Given the description of an element on the screen output the (x, y) to click on. 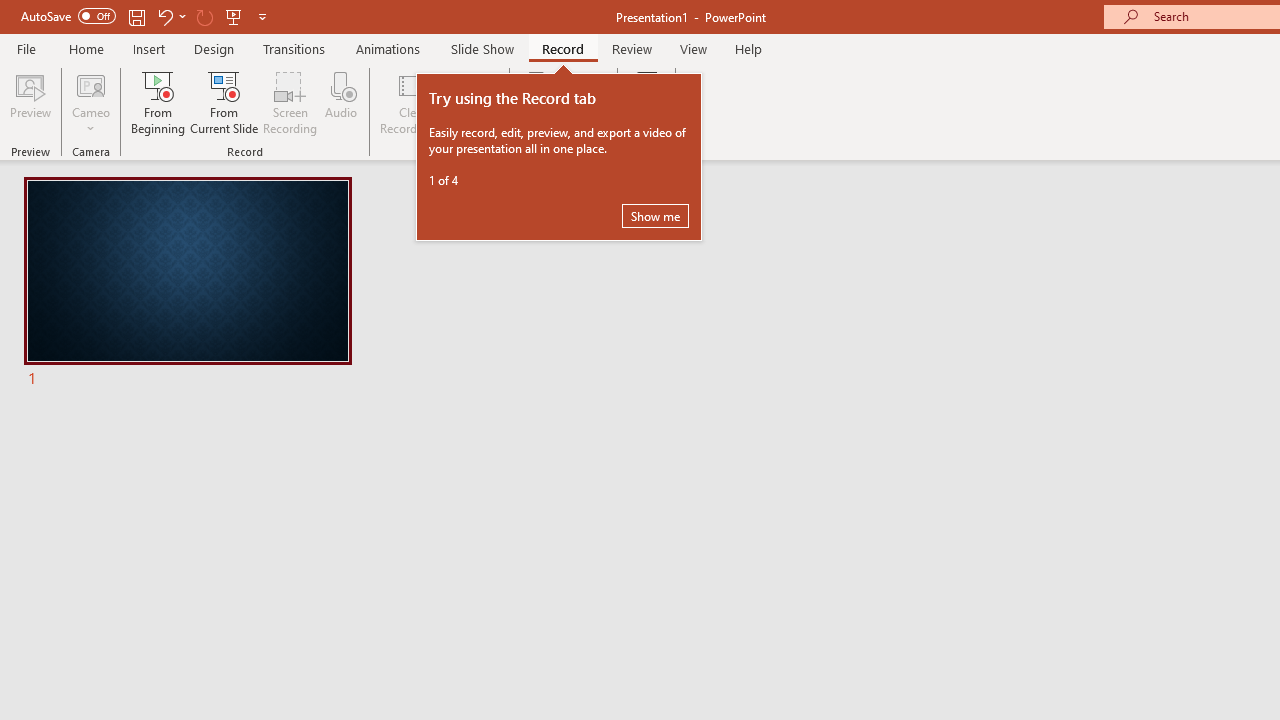
Reset to Cameo (474, 102)
Export to Video (585, 102)
Screen Recording (290, 102)
